Given the description of an element on the screen output the (x, y) to click on. 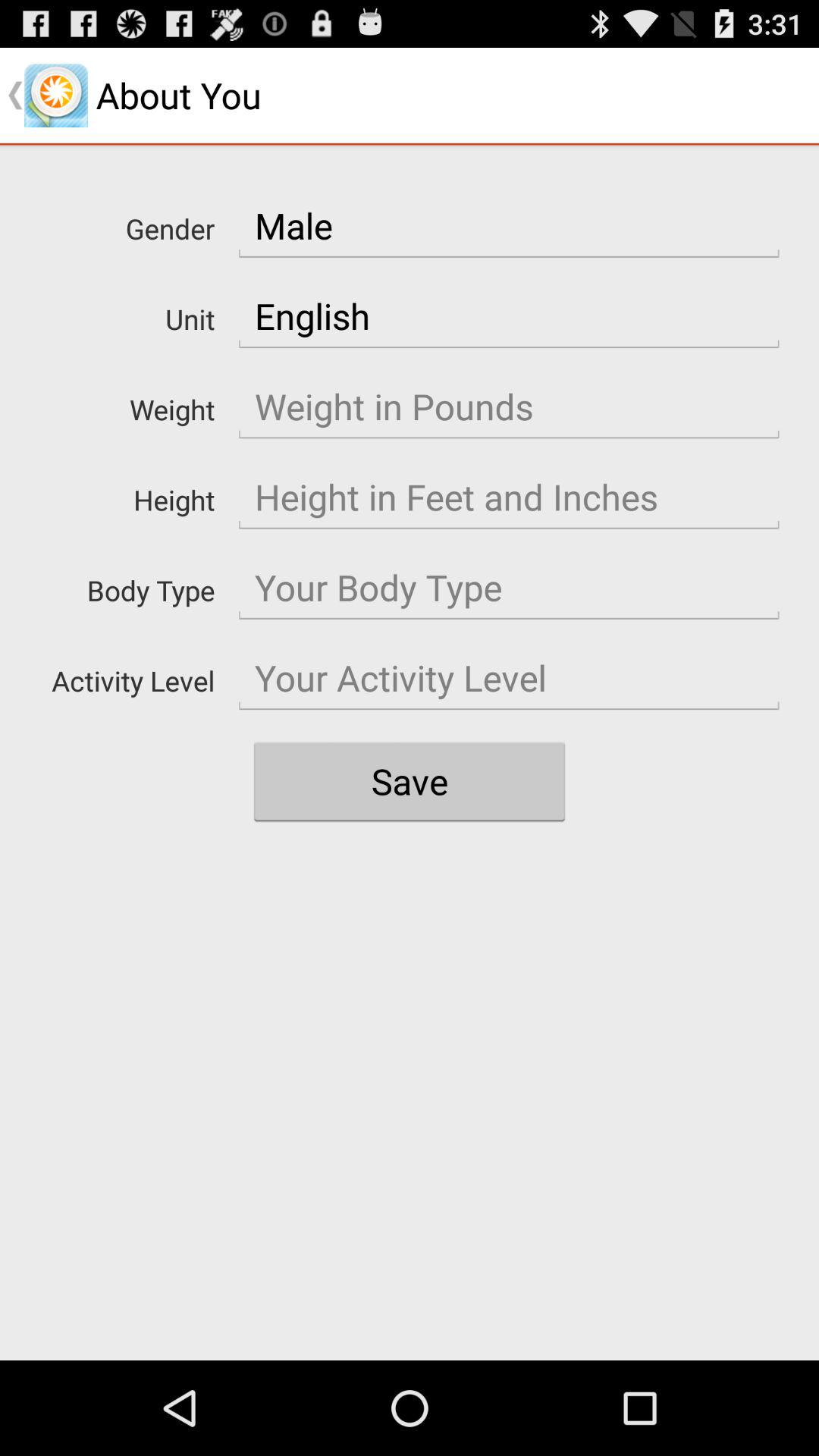
write activity level (508, 678)
